Given the description of an element on the screen output the (x, y) to click on. 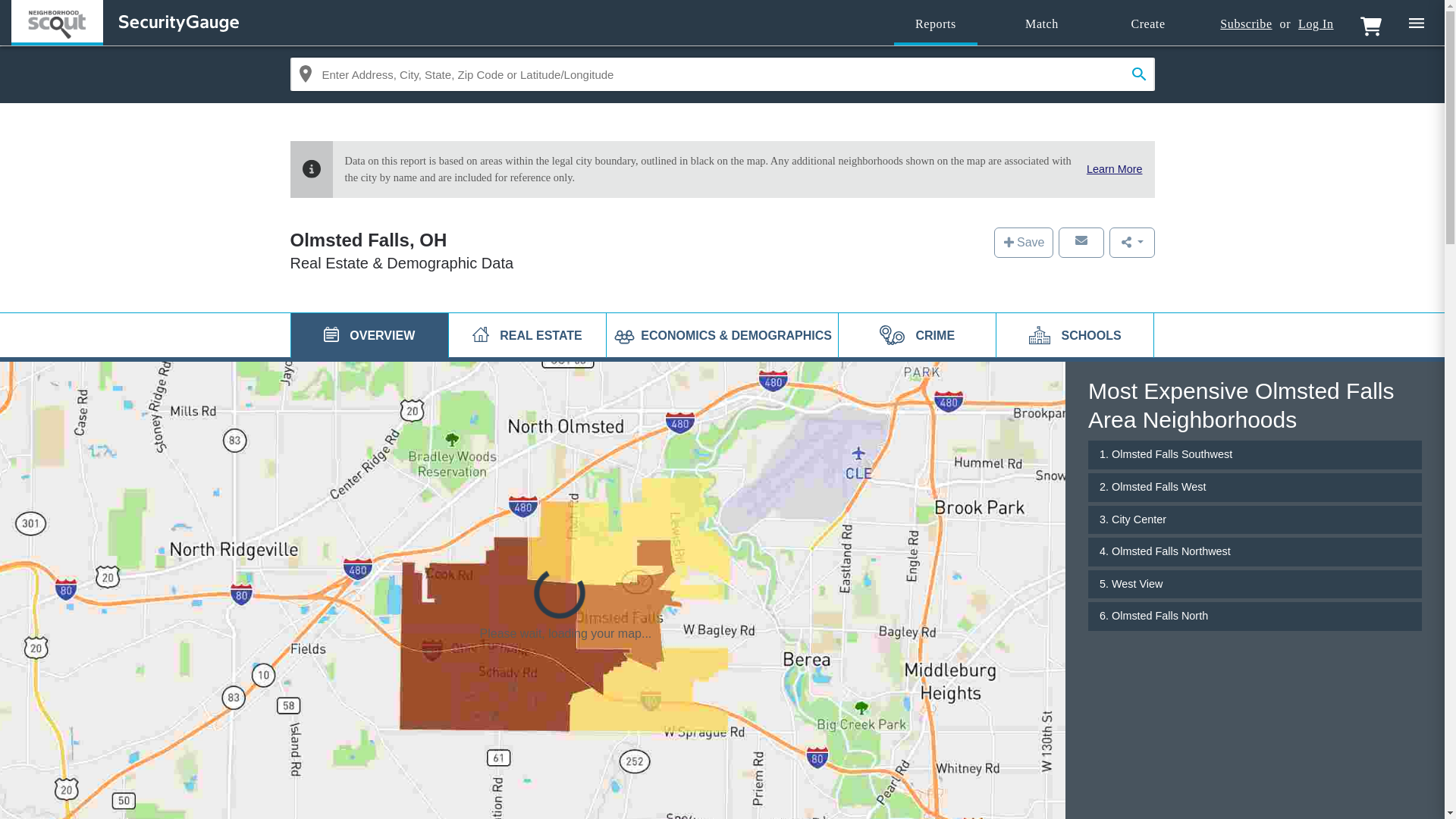
Log In (1315, 24)
Match (1041, 24)
Subscribe (1245, 24)
j (331, 334)
Reports (934, 24)
Create (1147, 24)
